Given the description of an element on the screen output the (x, y) to click on. 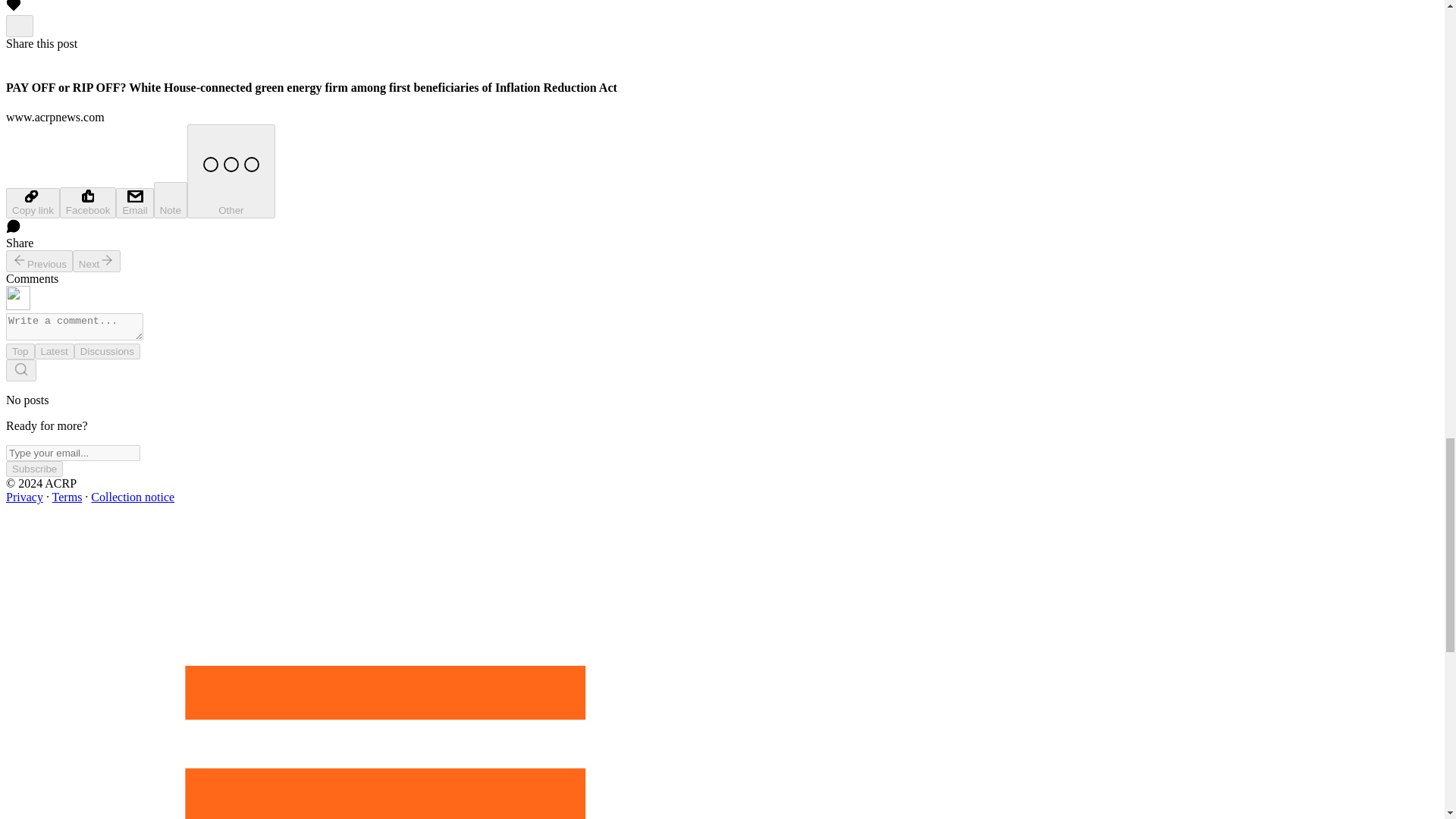
Latest (54, 351)
Discussions (106, 351)
Top (19, 351)
Facebook (87, 202)
Previous (38, 260)
Copy link (32, 203)
Next (96, 260)
Note (170, 199)
Other (231, 171)
Email (134, 203)
